Given the description of an element on the screen output the (x, y) to click on. 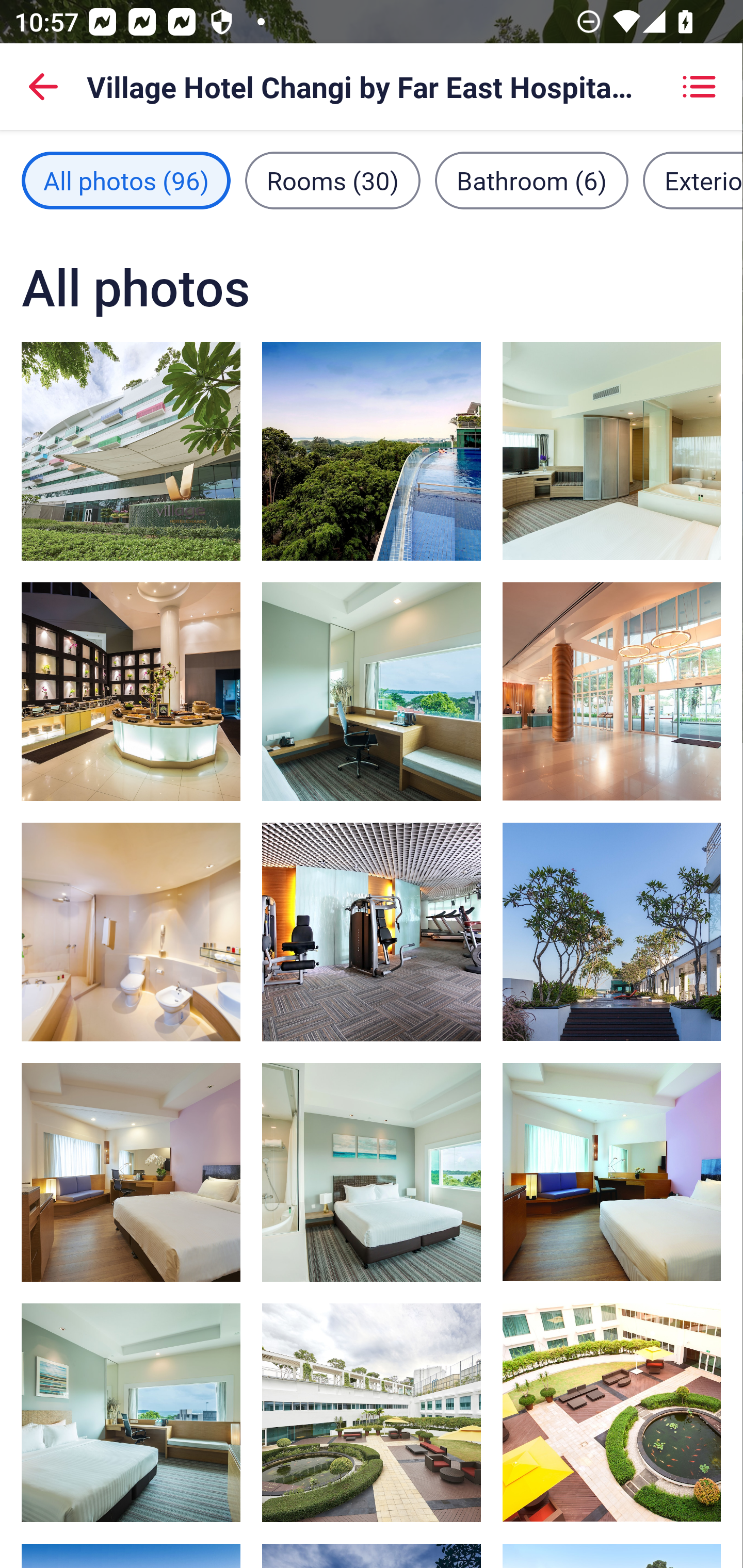
Back (43, 86)
Showing grid view (699, 86)
All photos filter, 96 images (125, 180)
Rooms filter, 30 images (332, 180)
Bathroom filter, 6 images (531, 180)
Front of property, image (130, 451)
2 outdoor pools, sun loungers, image (371, 451)
Restaurant, image (130, 691)
Lobby, image (611, 691)
Fitness facility, image (371, 932)
Property grounds, image (611, 932)
Garden, image (371, 1412)
Terrace/patio, image (611, 1411)
